Given the description of an element on the screen output the (x, y) to click on. 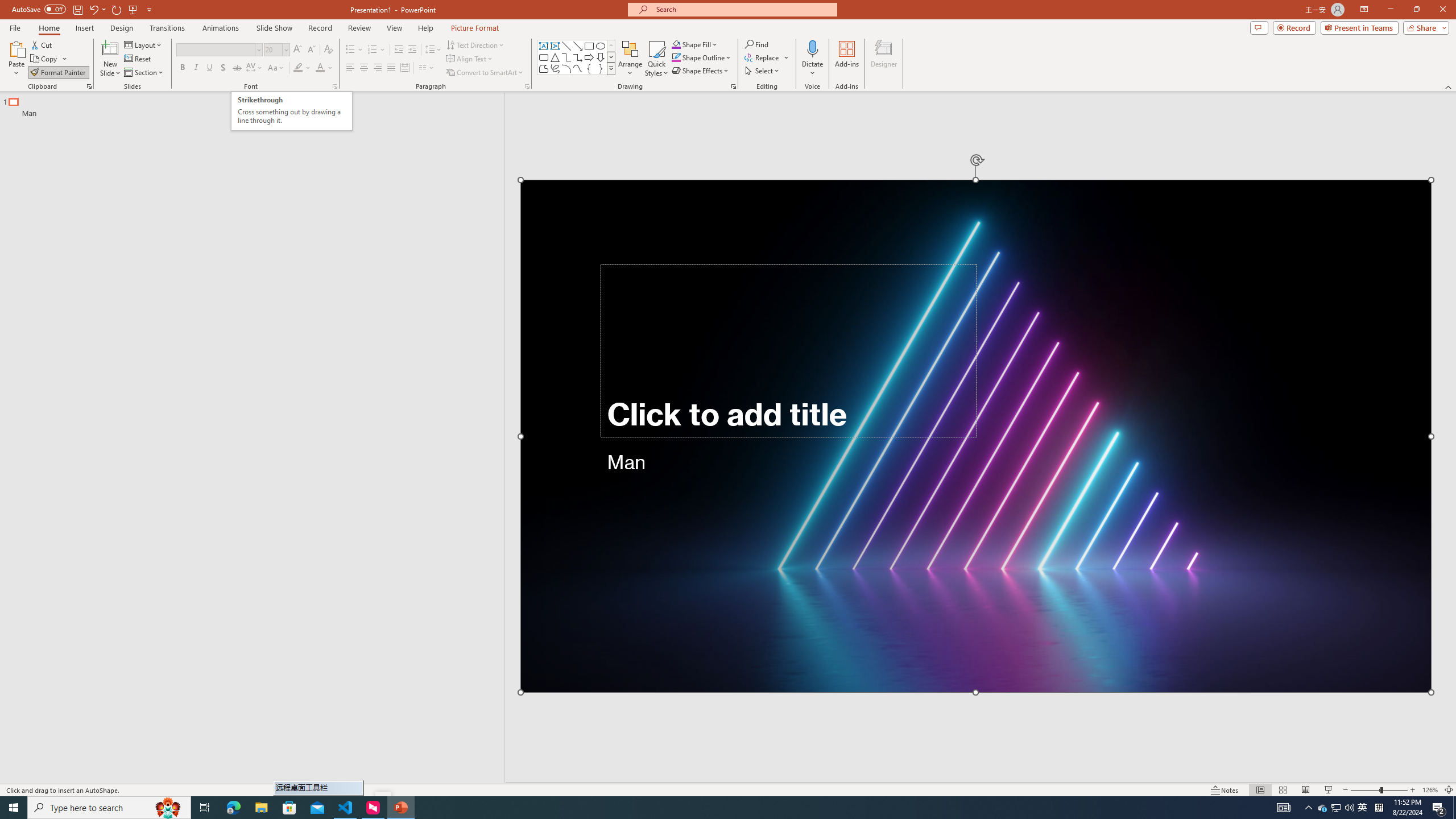
Zoom 126% (1430, 790)
